Given the description of an element on the screen output the (x, y) to click on. 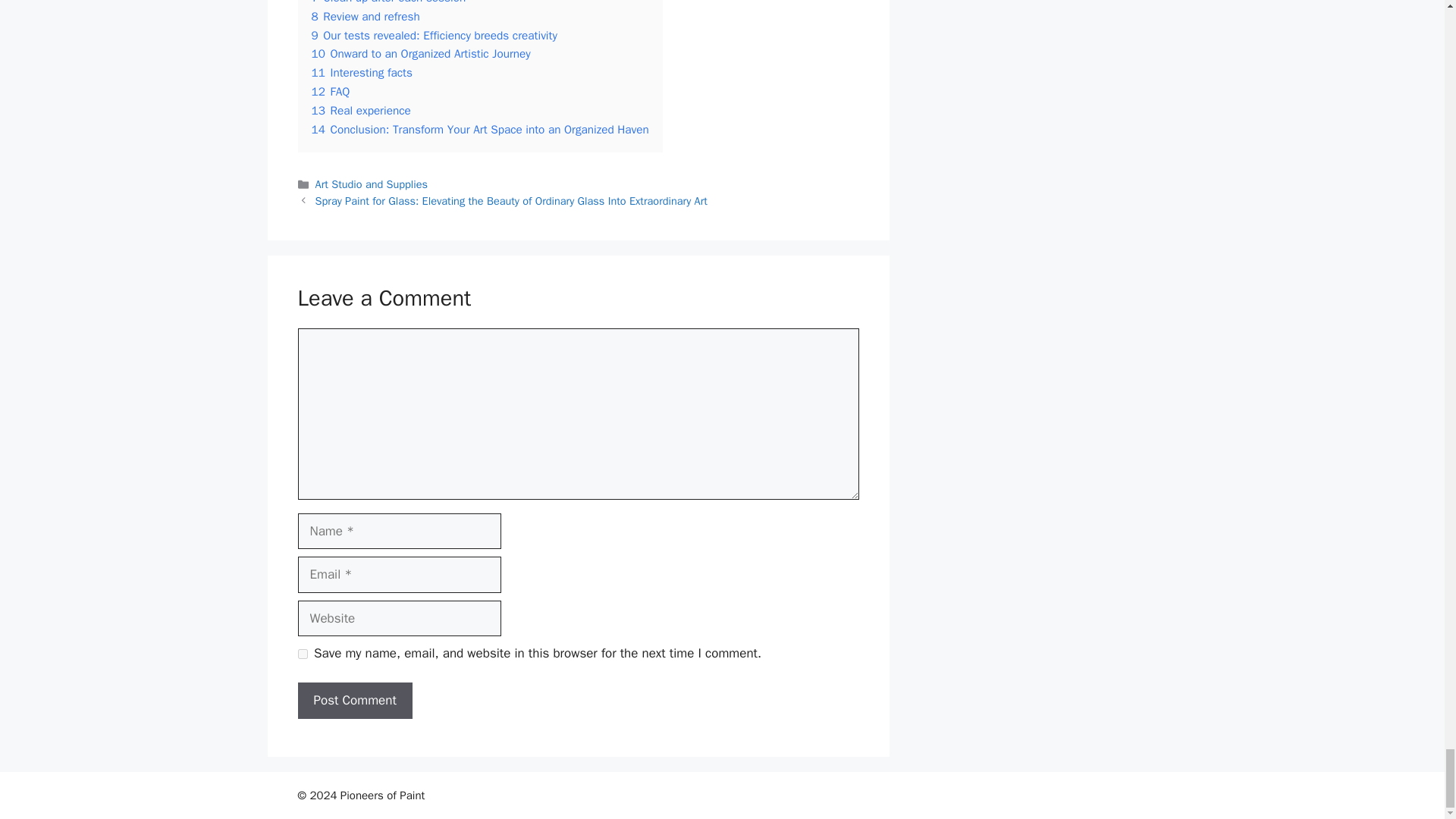
Post Comment (354, 700)
13 Real experience (360, 110)
11 Interesting facts (361, 72)
Art Studio and Supplies (371, 183)
12 FAQ (330, 91)
9 Our tests revealed: Efficiency breeds creativity (433, 35)
10 Onward to an Organized Artistic Journey (420, 53)
yes (302, 654)
